Given the description of an element on the screen output the (x, y) to click on. 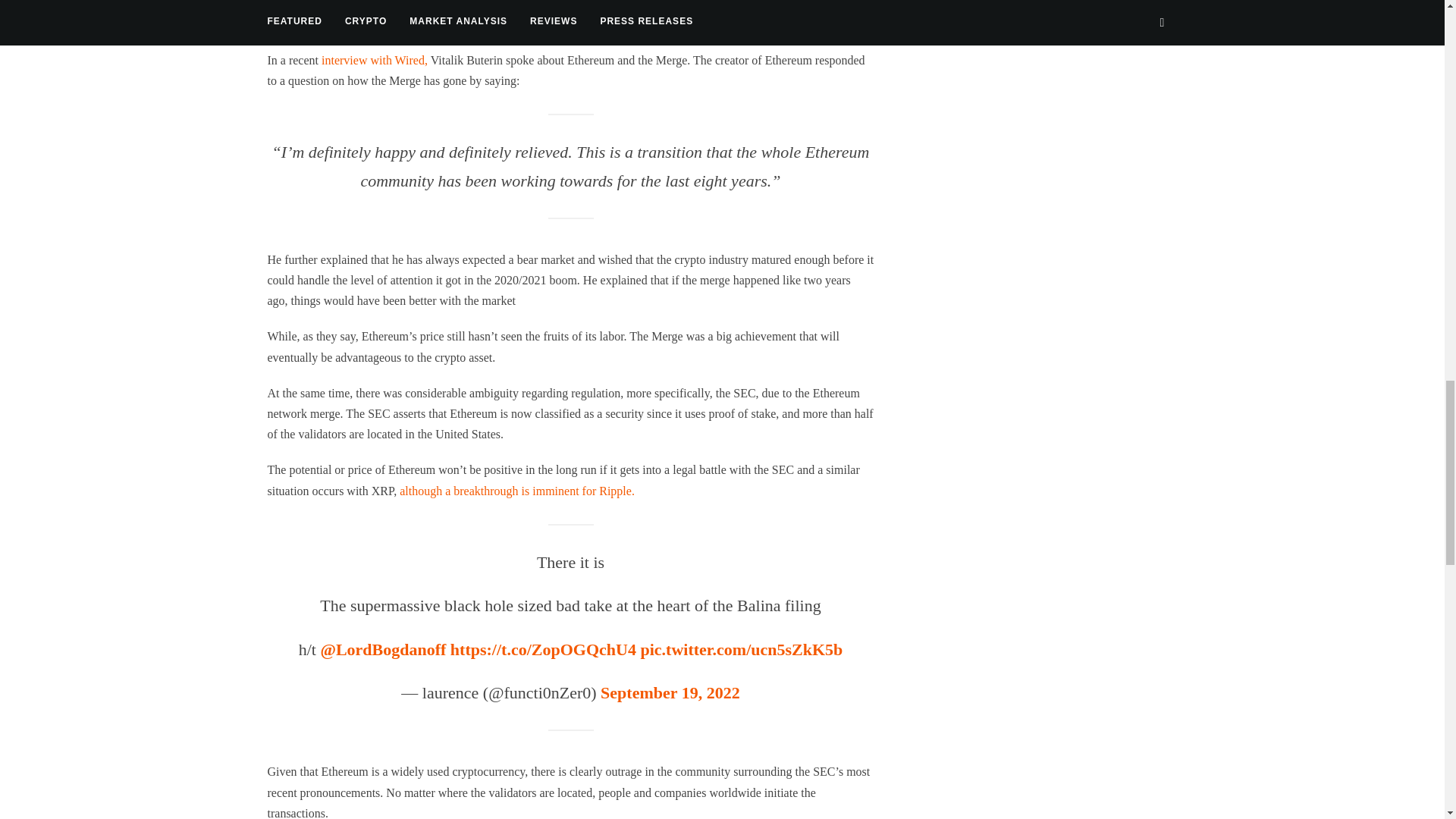
September 19, 2022 (669, 692)
interview with Wired, (374, 60)
although a breakthrough is imminent for Ripple. (516, 490)
